Given the description of an element on the screen output the (x, y) to click on. 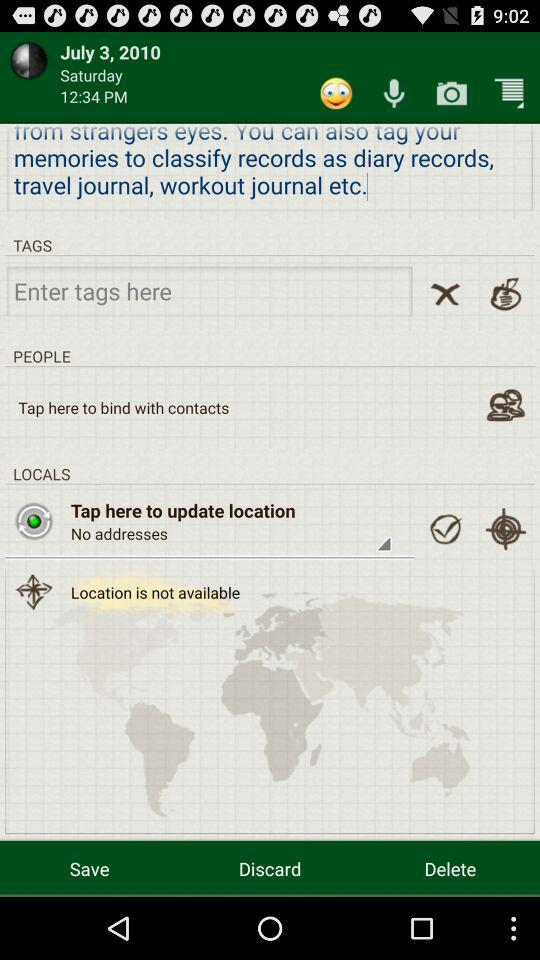
remove tag (445, 293)
